Given the description of an element on the screen output the (x, y) to click on. 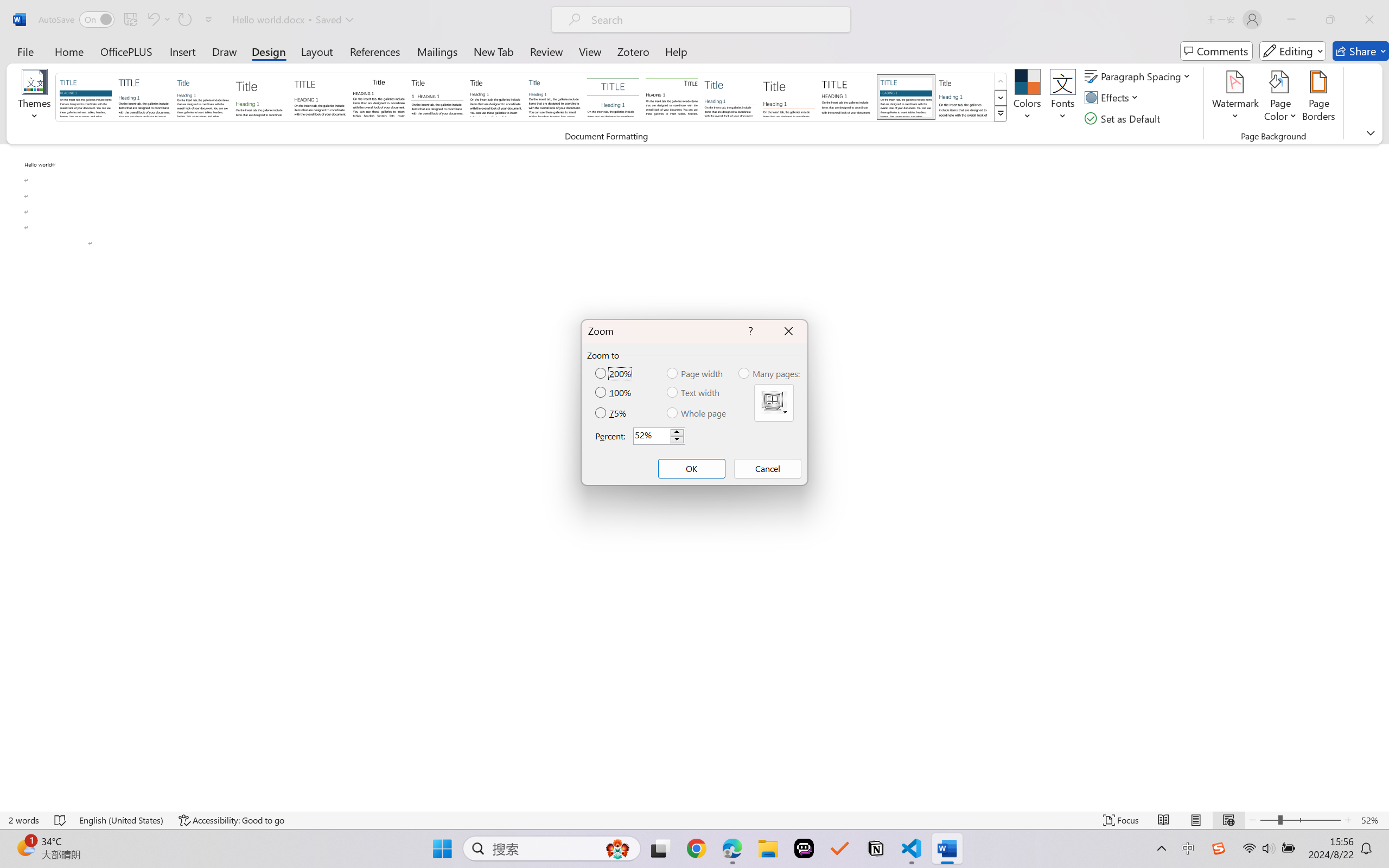
Minimize (1291, 19)
Insert (182, 51)
Design (268, 51)
Fonts (1062, 97)
Row Down (1000, 97)
200% (614, 373)
Zotero (632, 51)
Centered (612, 96)
Multiple Pages (774, 402)
Lines (Stylish) (788, 96)
